Given the description of an element on the screen output the (x, y) to click on. 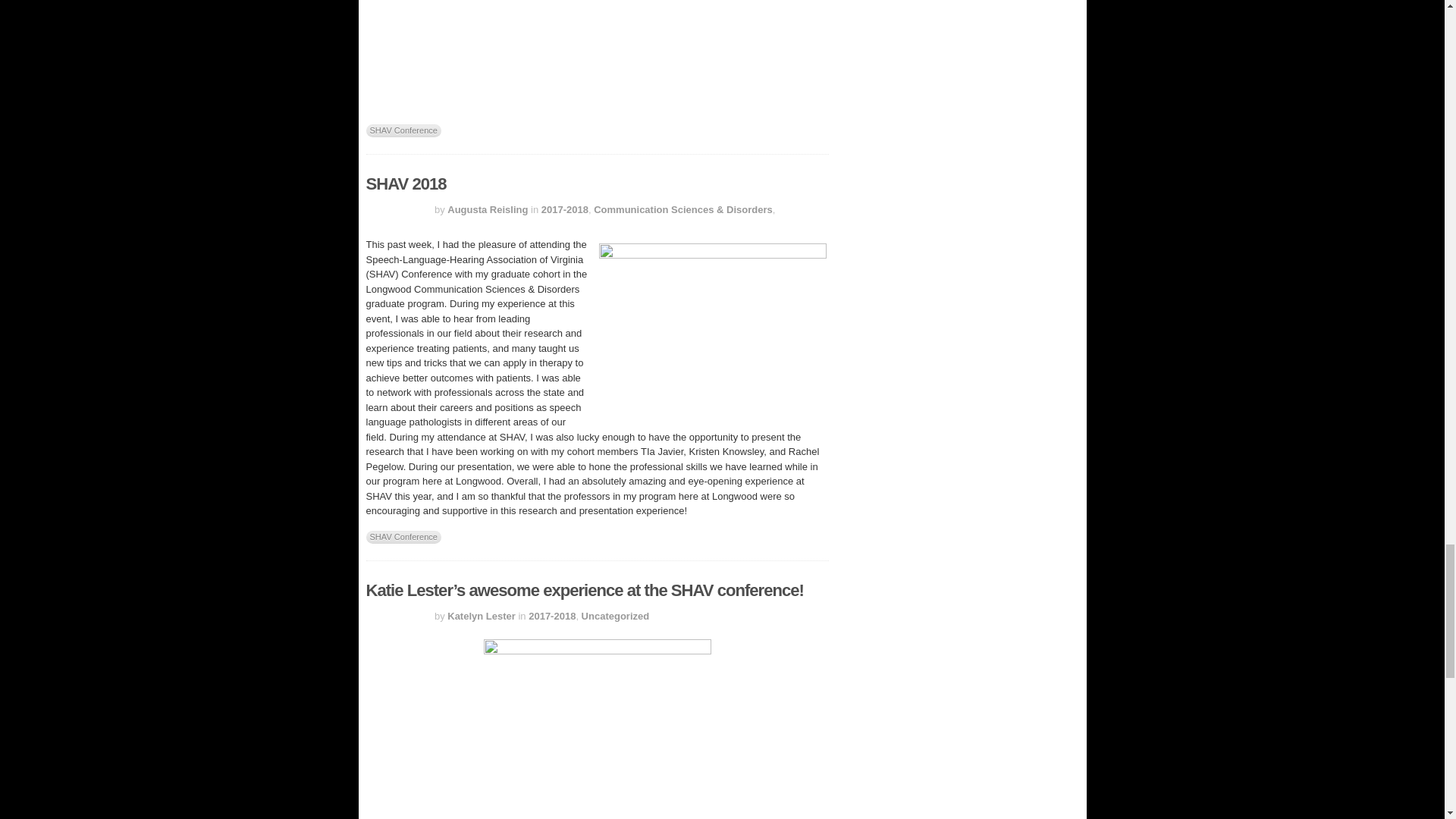
Permalink to SHAV 2018 (405, 183)
